Given the description of an element on the screen output the (x, y) to click on. 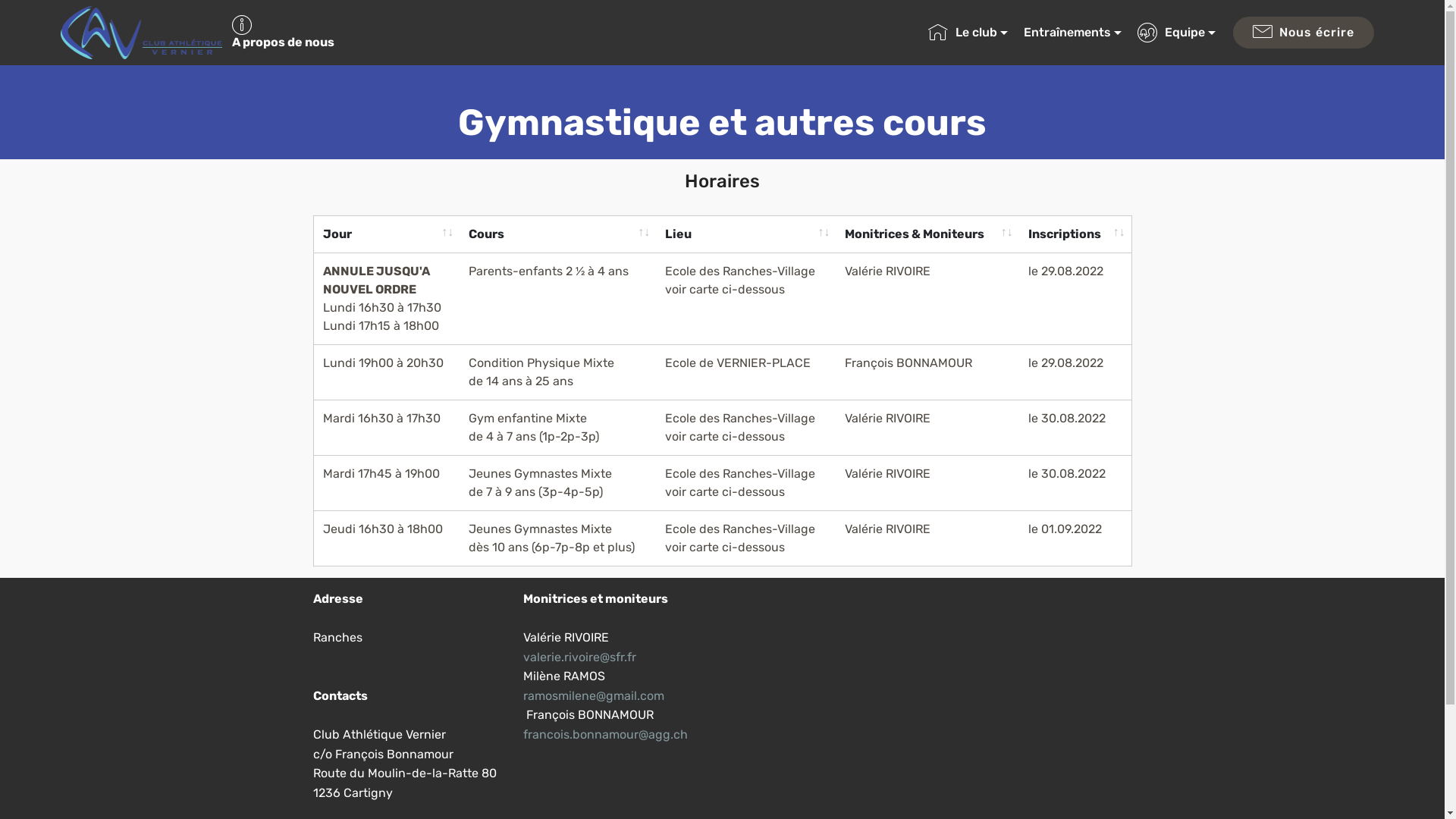
valerie.rivoire@sfr.fr Element type: text (579, 656)
ramosmilene@gmail.com Element type: text (593, 695)
A propos de nous Element type: text (295, 32)
Le club Element type: text (967, 32)
Equipe Element type: text (1176, 32)
francois.bonnamour@agg.ch Element type: text (605, 734)
